Given the description of an element on the screen output the (x, y) to click on. 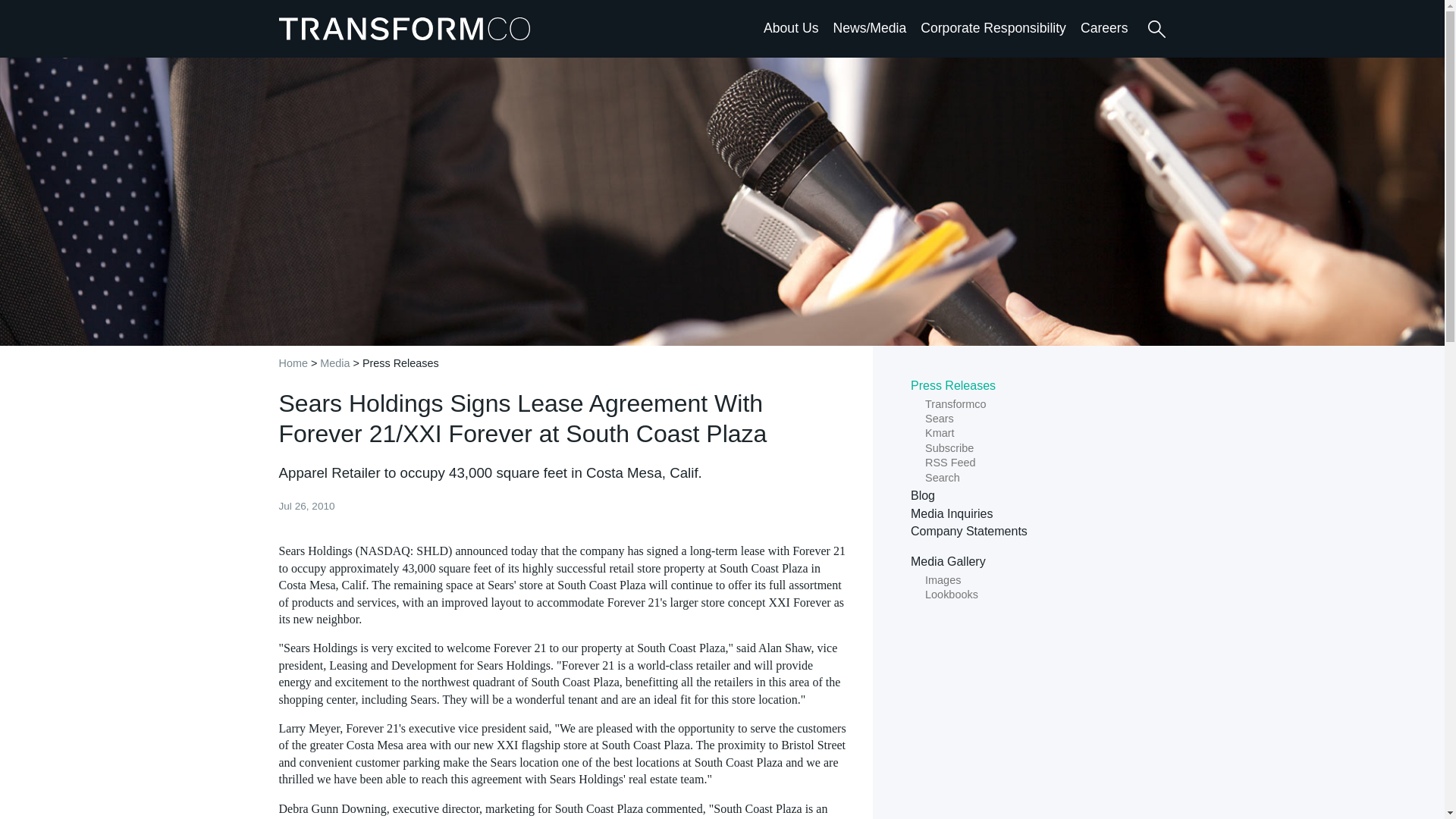
About Us (790, 28)
Transformco (408, 28)
Transformco (408, 28)
Corporate Responsibility (993, 28)
Search (1156, 28)
